Given the description of an element on the screen output the (x, y) to click on. 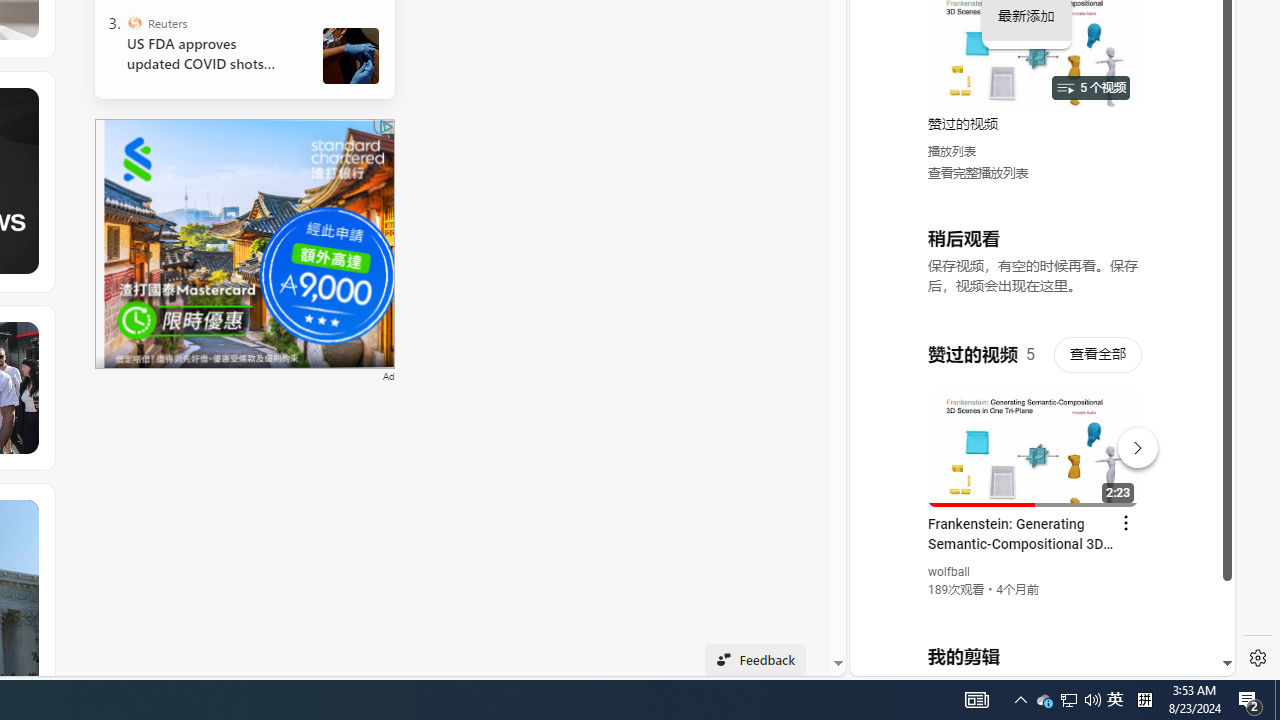
Class: qc-adchoices-link top-right  (385, 125)
you (1034, 609)
#you (1034, 439)
Reuters (134, 22)
Class: dict_pnIcon rms_img (1028, 660)
Click to scroll right (1196, 83)
